Given the description of an element on the screen output the (x, y) to click on. 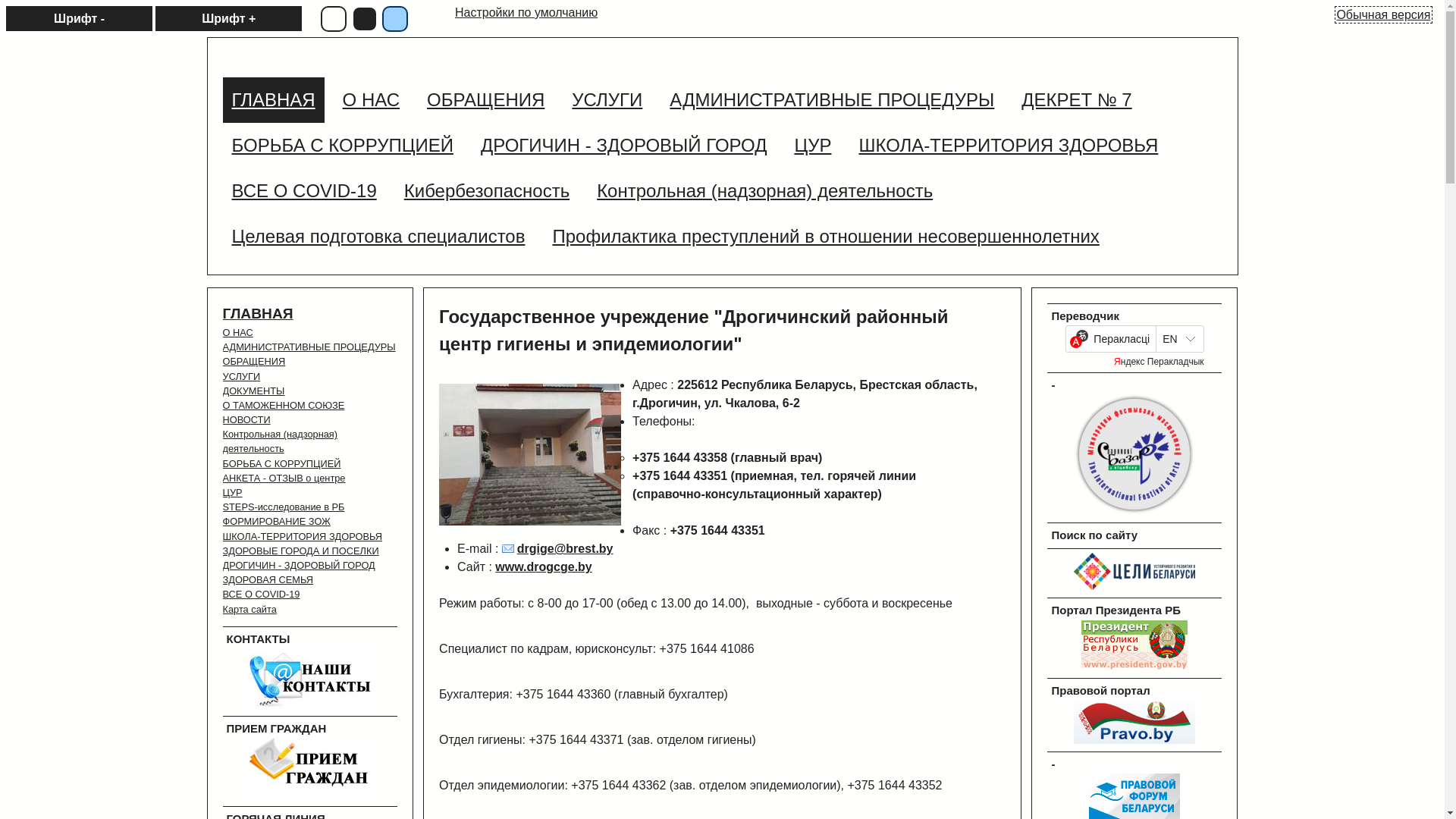
- Element type: hover (1134, 511)
www.drogcge.by Element type: text (543, 566)
drgige@brest.by Element type: text (557, 548)
